Given the description of an element on the screen output the (x, y) to click on. 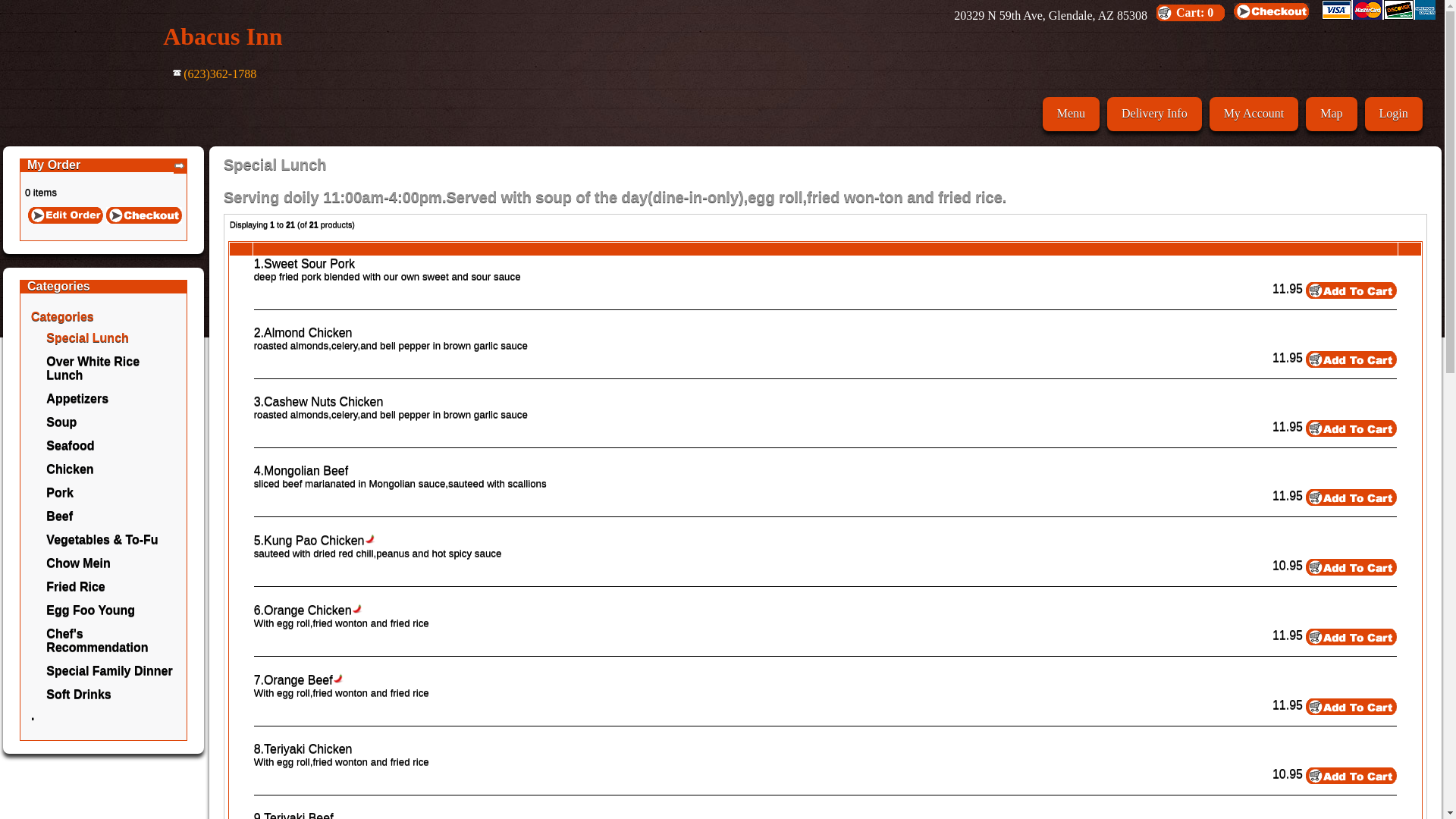
Login Element type: text (1393, 114)
Soup Element type: text (61, 421)
Over White Rice Lunch Element type: text (92, 367)
Special Family Dinner Element type: text (109, 670)
 Add to Cart  Element type: hover (1350, 706)
 Edit Cart  Element type: hover (65, 215)
My Account Element type: text (1254, 114)
. Element type: text (32, 715)
Fried Rice Element type: text (75, 586)
 Cart: 0 Element type: text (1193, 12)
Map Element type: text (1330, 114)
Vegetables & To-Fu Element type: text (101, 539)
 Add to Cart  Element type: hover (1350, 566)
Chef's Recommendation Element type: text (96, 640)
 more  Element type: hover (180, 165)
Appetizers Element type: text (77, 398)
Pork Element type: text (59, 492)
Chow Mein Element type: text (77, 562)
Categories Element type: text (62, 316)
 Checkout  Element type: hover (1271, 11)
Beef Element type: text (59, 515)
 Add to Cart  Element type: hover (1350, 497)
 Add to Cart  Element type: hover (1350, 428)
 Add to Cart  Element type: hover (1350, 290)
Delivery Info Element type: text (1154, 114)
Soft Drinks Element type: text (78, 693)
 Checkout  Element type: hover (144, 215)
 Add to Cart  Element type: hover (1350, 636)
Egg Foo Young Element type: text (90, 609)
 Add to Cart  Element type: hover (1350, 775)
Menu Element type: text (1070, 114)
Chicken Element type: text (69, 468)
Seafood Element type: text (70, 445)
 Add to Cart  Element type: hover (1350, 359)
Special Lunch Element type: text (87, 337)
